Given the description of an element on the screen output the (x, y) to click on. 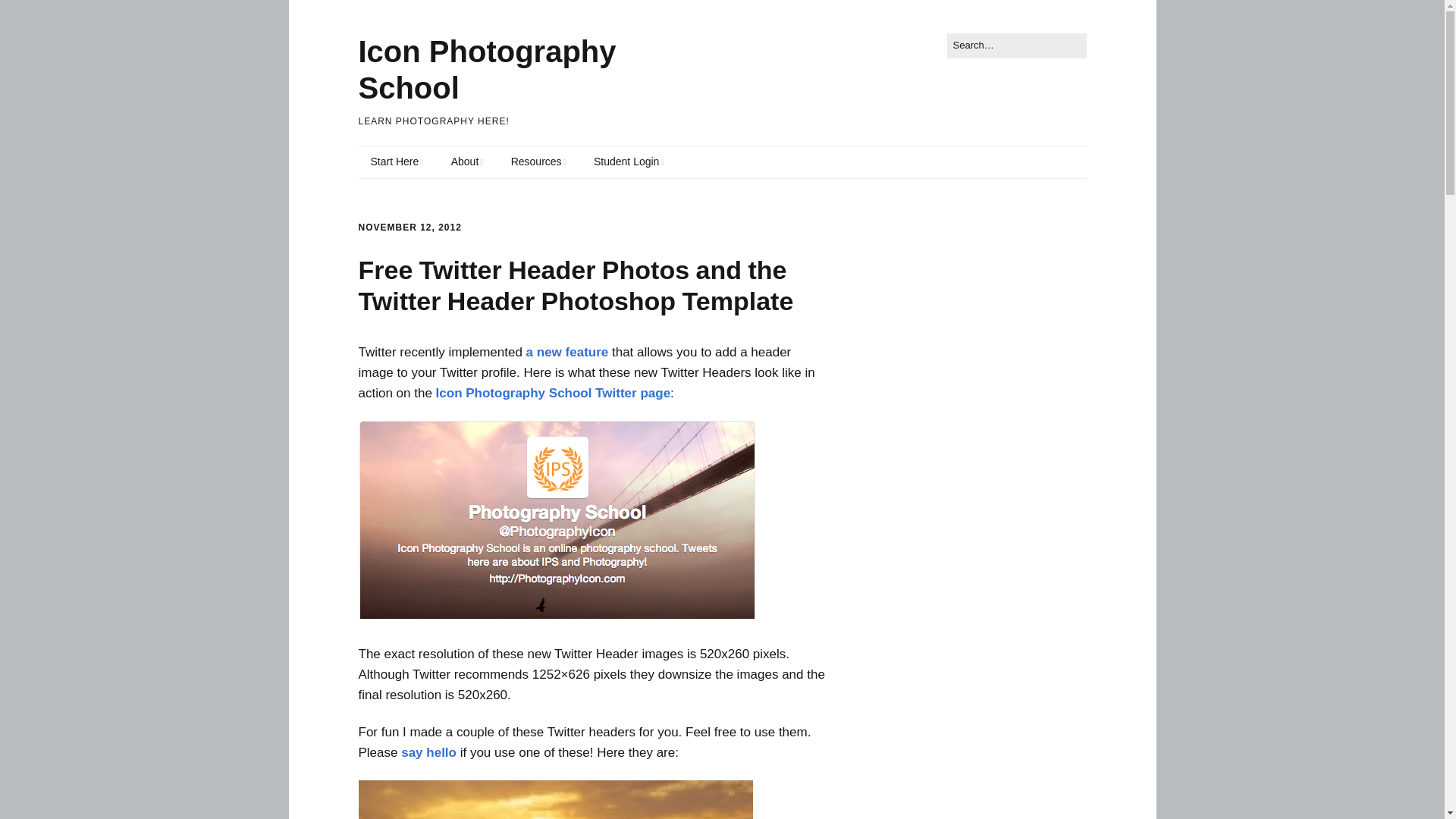
Icon Photography School Twitter (429, 752)
Student Login (627, 162)
Icon Photography School Twitter Page (556, 616)
say hello (429, 752)
Icon Photography School on Twitter (632, 392)
About (467, 162)
Icon Photography School (513, 392)
example of a twitter header (556, 519)
Twitter Header (566, 351)
a new feature (566, 351)
